Given the description of an element on the screen output the (x, y) to click on. 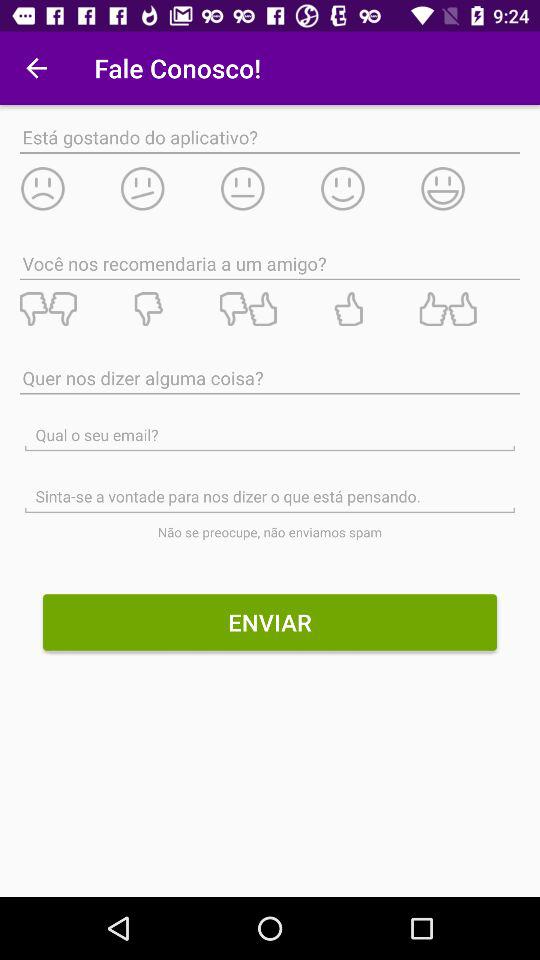
dislike/rating system (169, 309)
